Given the description of an element on the screen output the (x, y) to click on. 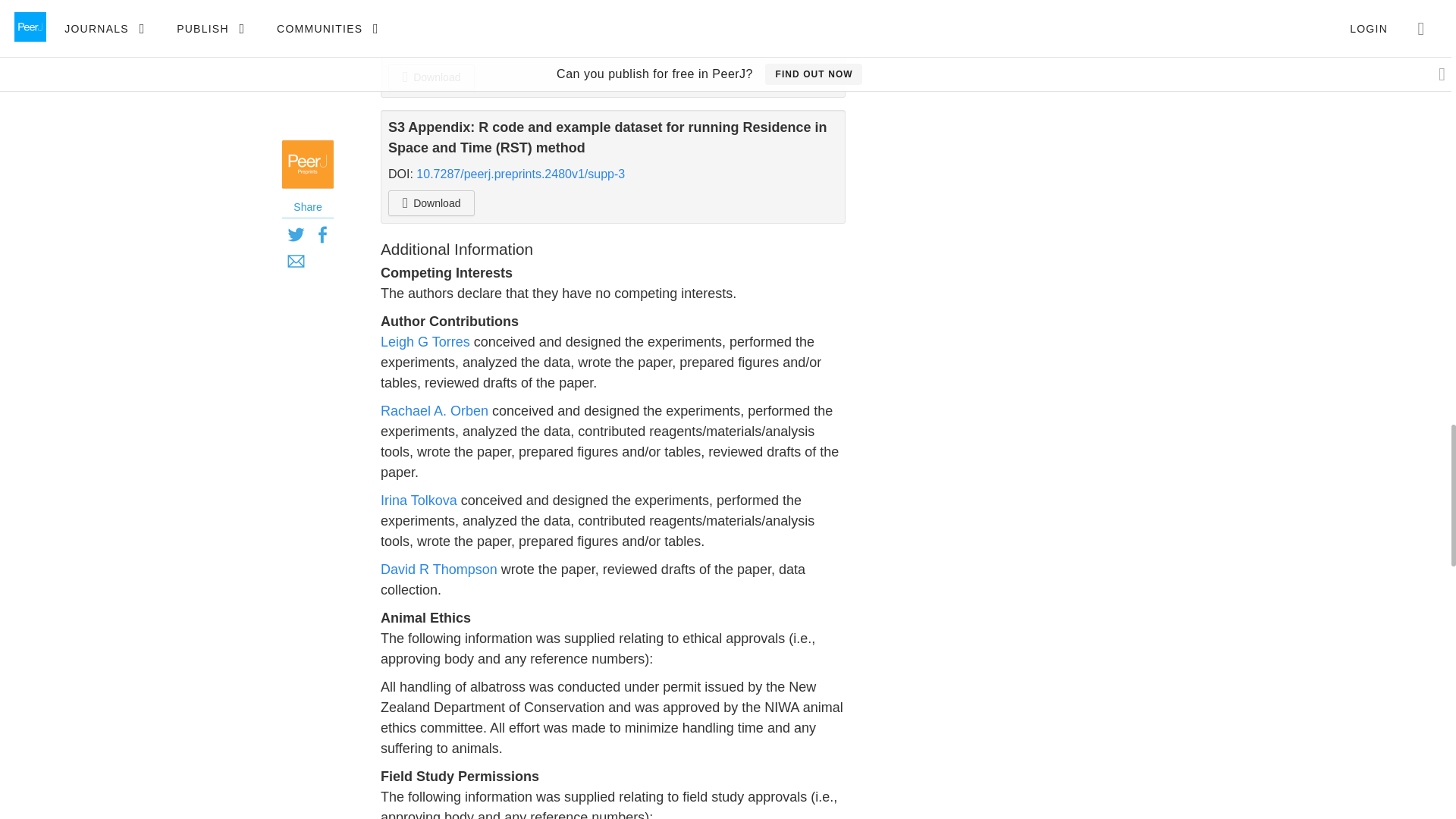
Leigh G Torres (425, 341)
  Download (431, 77)
  Download (431, 203)
